Given the description of an element on the screen output the (x, y) to click on. 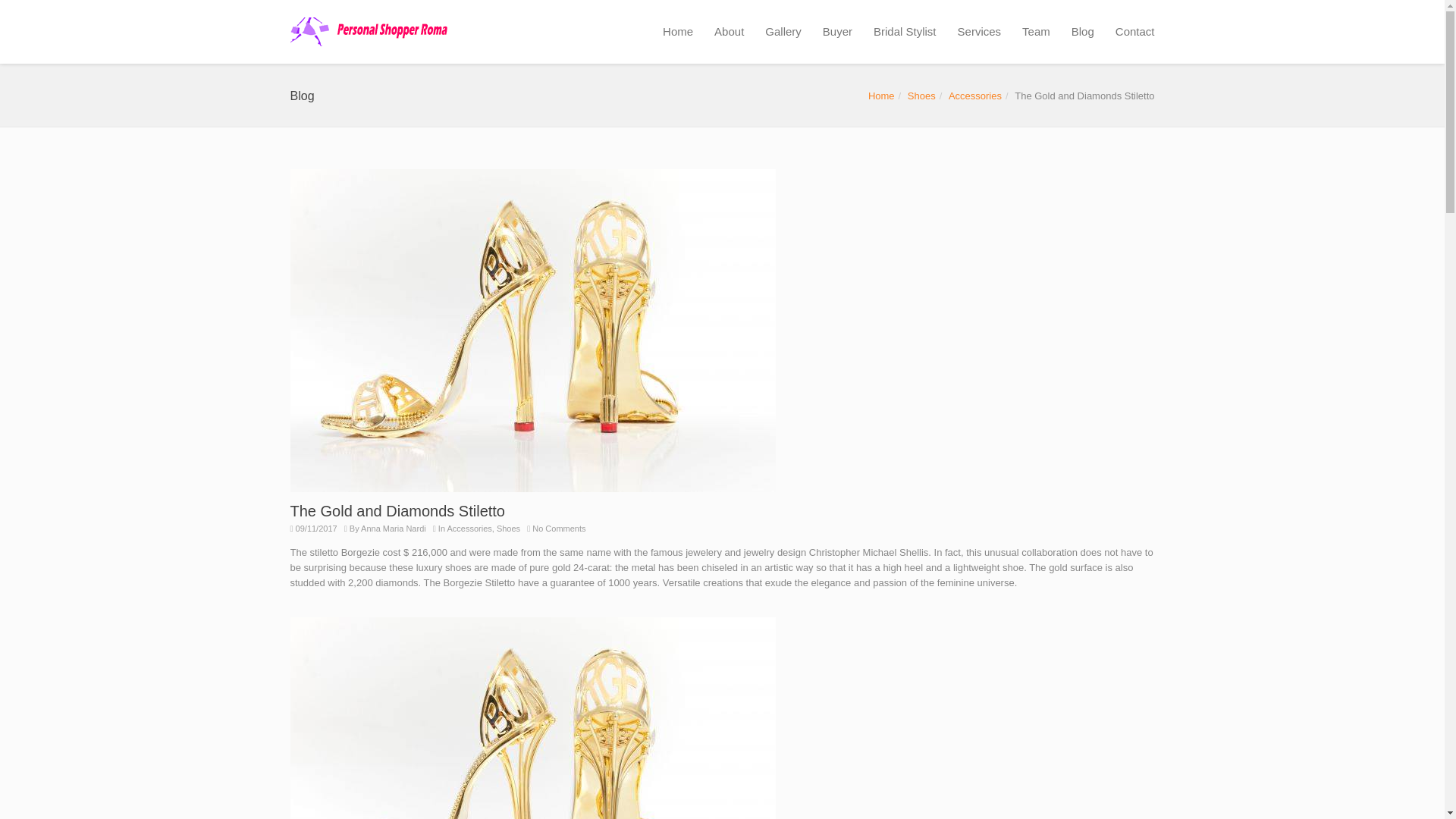
Accessories (975, 95)
Shoes (921, 95)
stiletto (531, 718)
Bridal Stylist (905, 31)
Shoes (507, 528)
Articoli scritti da Anna Maria Nardi (393, 528)
Services (979, 31)
Anna Maria Nardi (393, 528)
Gallery (783, 31)
Accessories (469, 528)
